Given the description of an element on the screen output the (x, y) to click on. 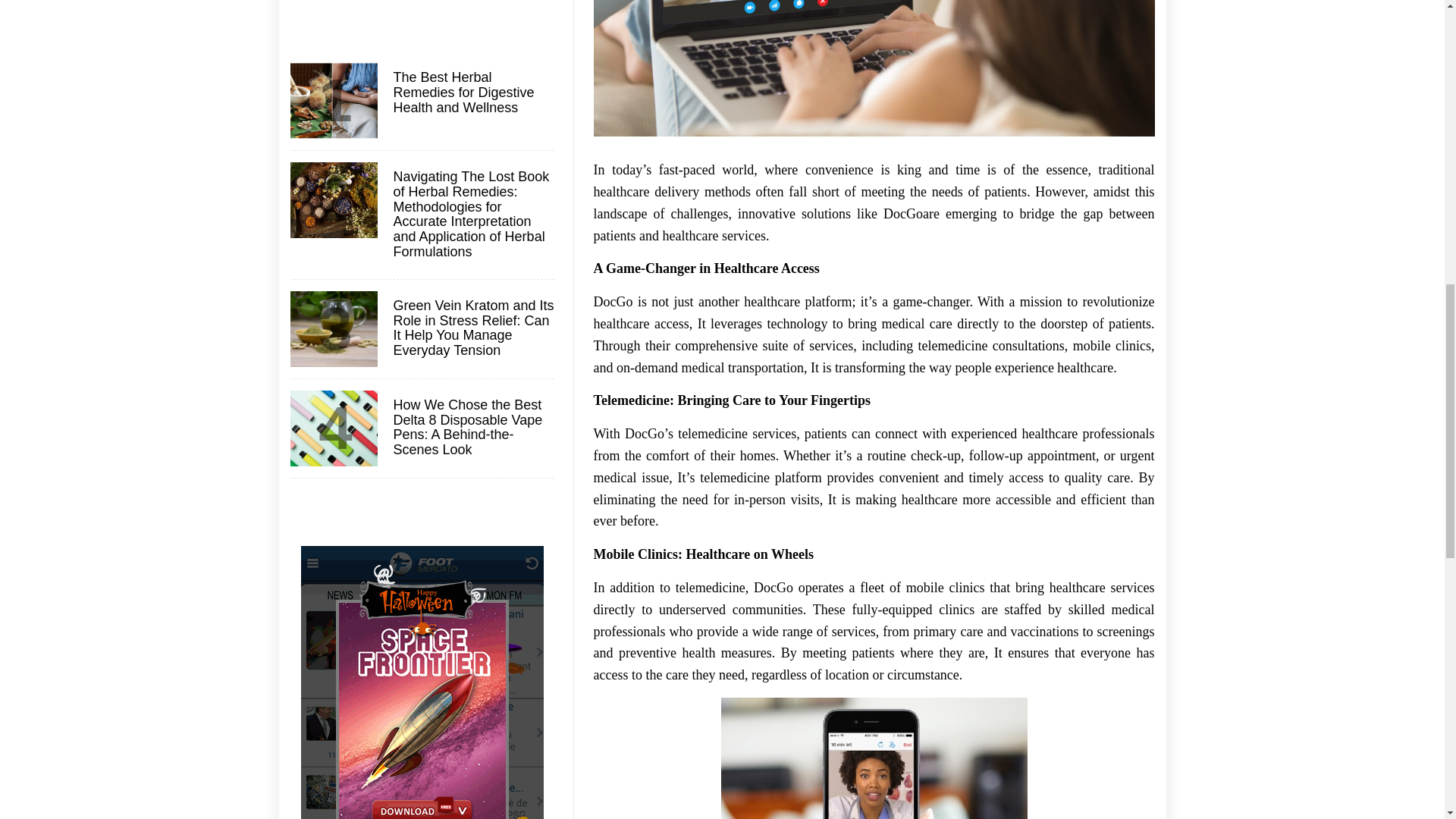
The Best Herbal Remedies for Digestive Health and Wellness (471, 92)
